Given the description of an element on the screen output the (x, y) to click on. 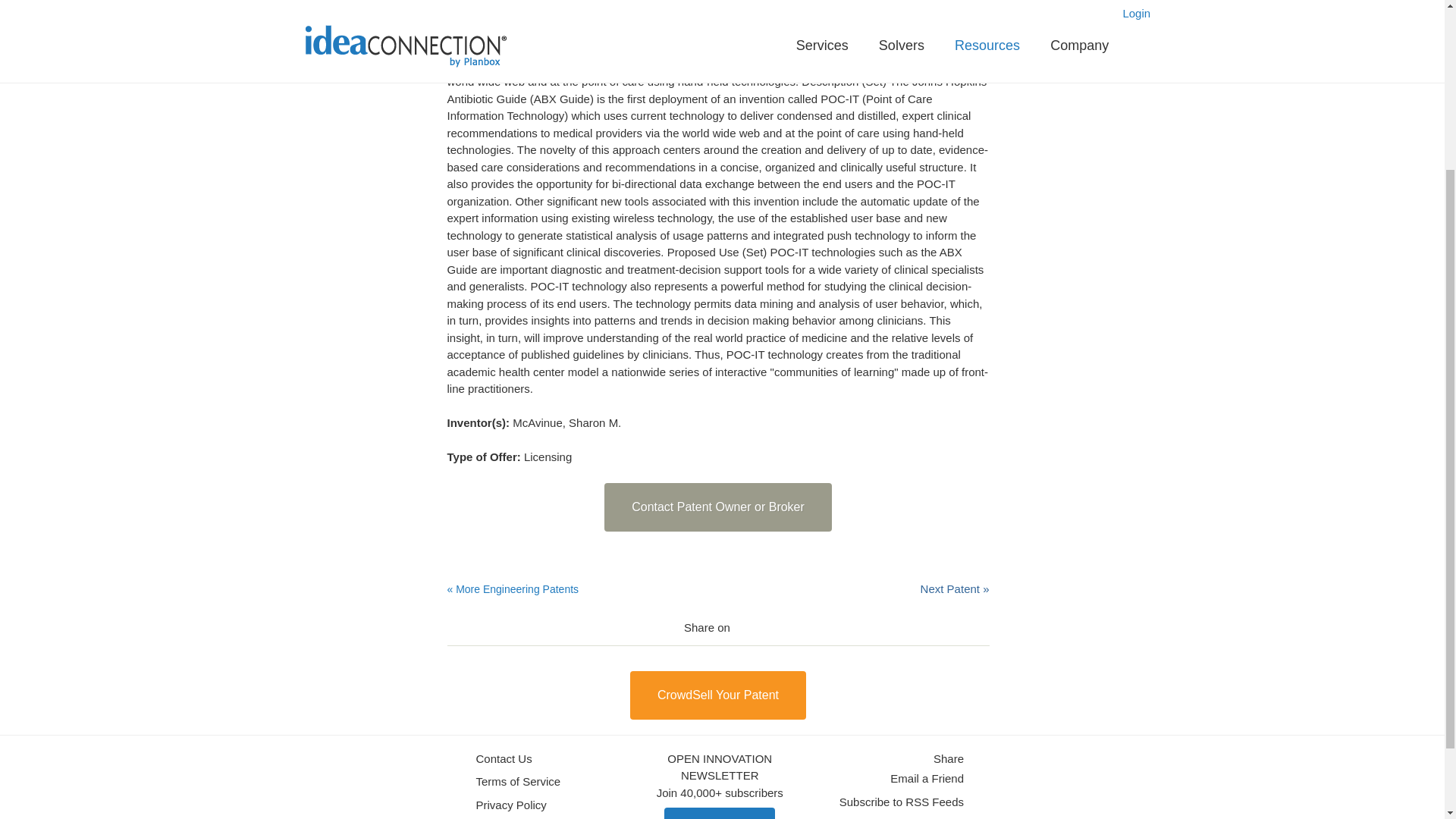
Email a Friend (926, 778)
Contact Us (504, 759)
Terms of Service (518, 782)
CrowdSell Your Patent (718, 694)
Contact Patent Owner or Broker (717, 507)
Privacy Policy (511, 805)
Subscribe to RSS Feeds (901, 801)
